Given the description of an element on the screen output the (x, y) to click on. 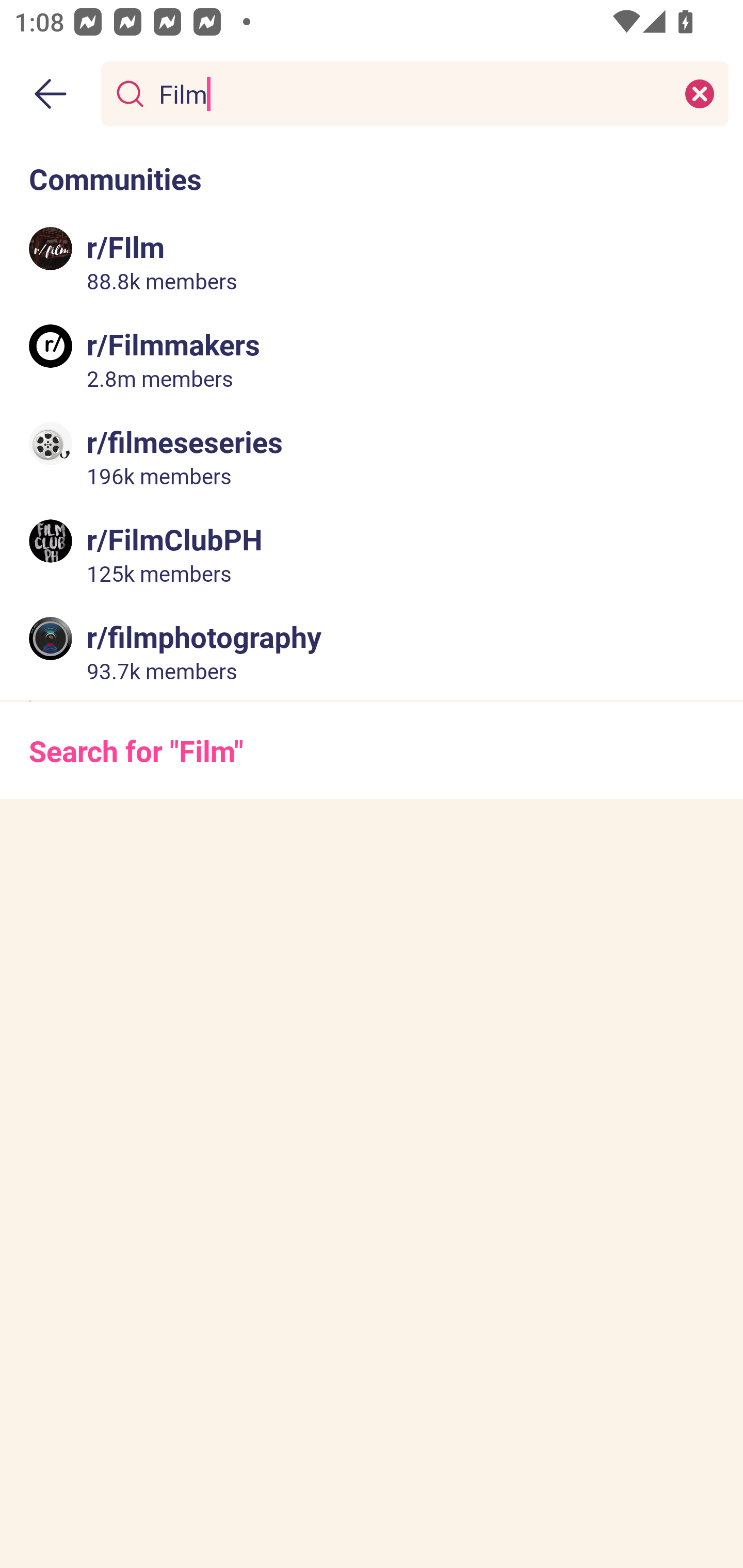
Back (50, 93)
Film (410, 93)
Clear search (699, 93)
r/FIlm 88.8k members 88.8 thousand members (371, 261)
r/Filmmakers 2.8m members 2.8 million members (371, 358)
r/filmeseseries 196k members 196 thousand members (371, 455)
r/FilmClubPH 125k members 125 thousand members (371, 553)
Search for "Film" (371, 750)
